Given the description of an element on the screen output the (x, y) to click on. 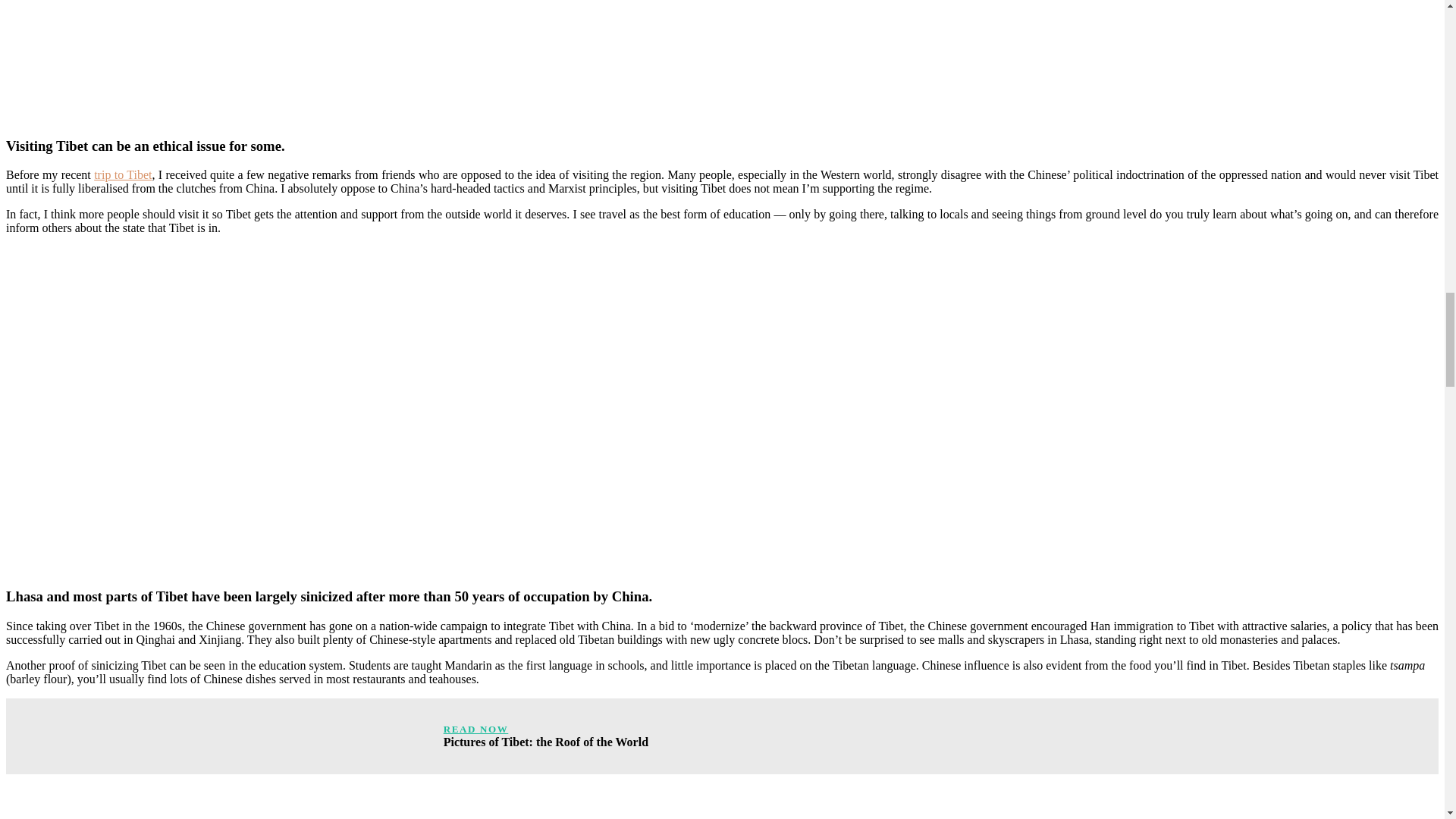
trip to Tibet (122, 174)
